Given the description of an element on the screen output the (x, y) to click on. 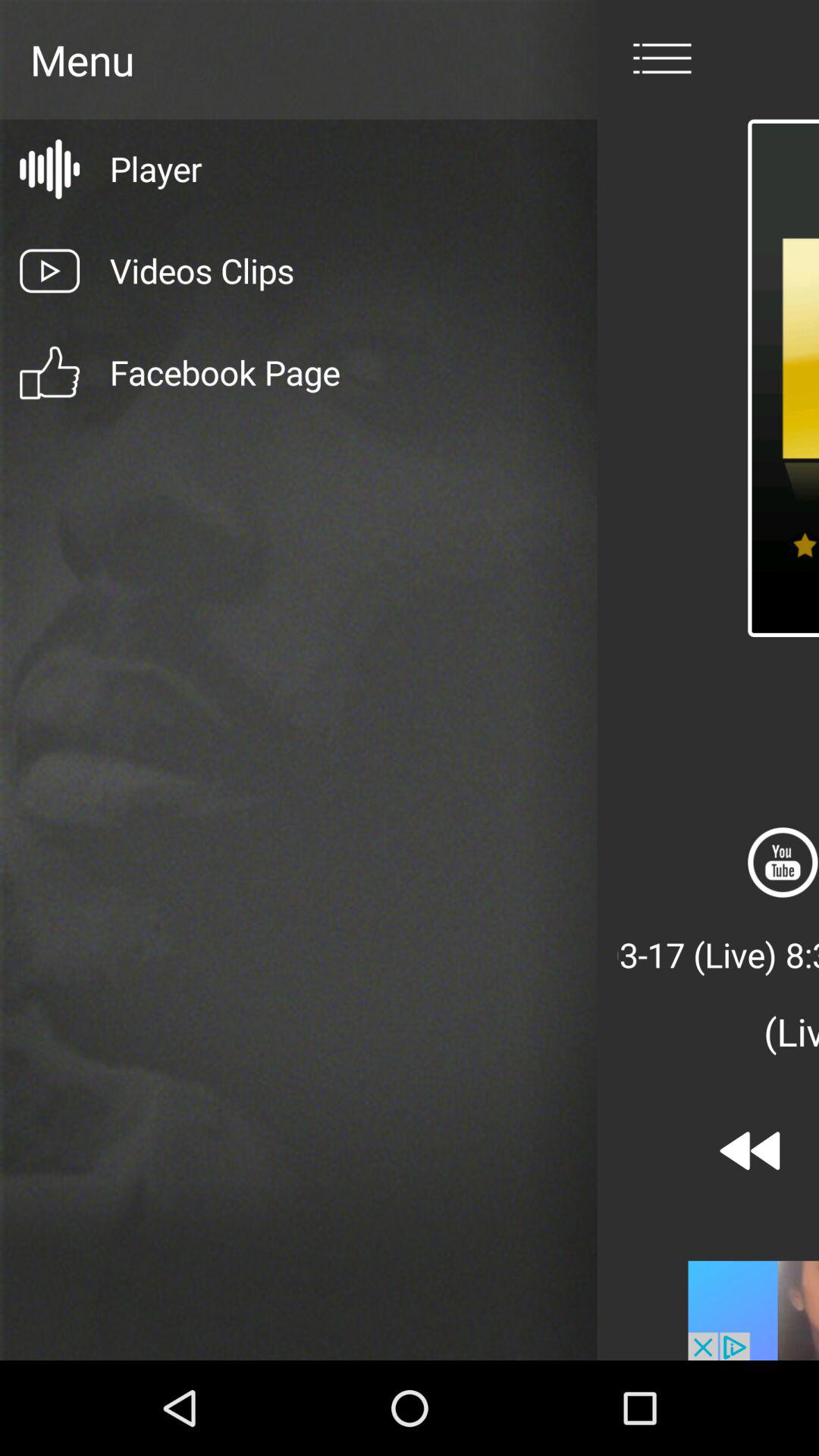
menu page (662, 59)
